Given the description of an element on the screen output the (x, y) to click on. 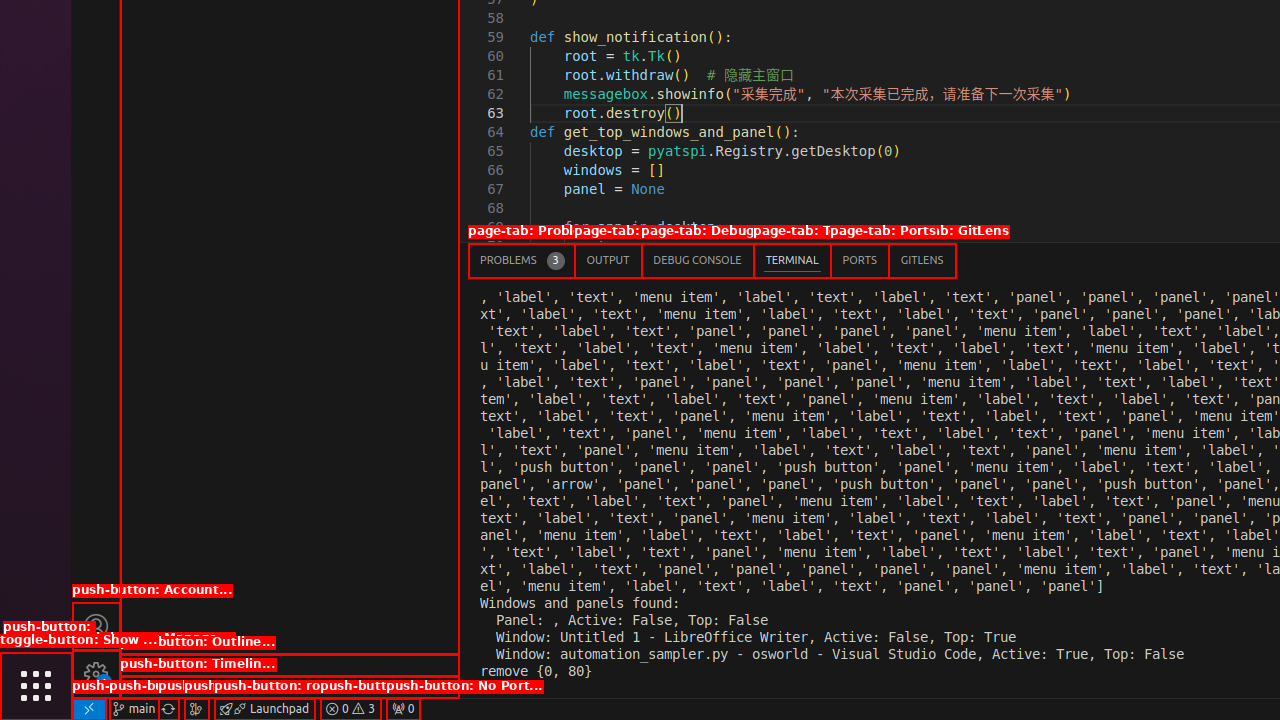
Manage - New Code update available. Element type: push-button (96, 674)
Show the GitLens Commit Graph Element type: push-button (196, 709)
No Ports Forwarded Element type: push-button (403, 709)
OSWorld (Git) - Synchronize Changes Element type: push-button (168, 709)
Timeline Section Element type: push-button (289, 687)
